Given the description of an element on the screen output the (x, y) to click on. 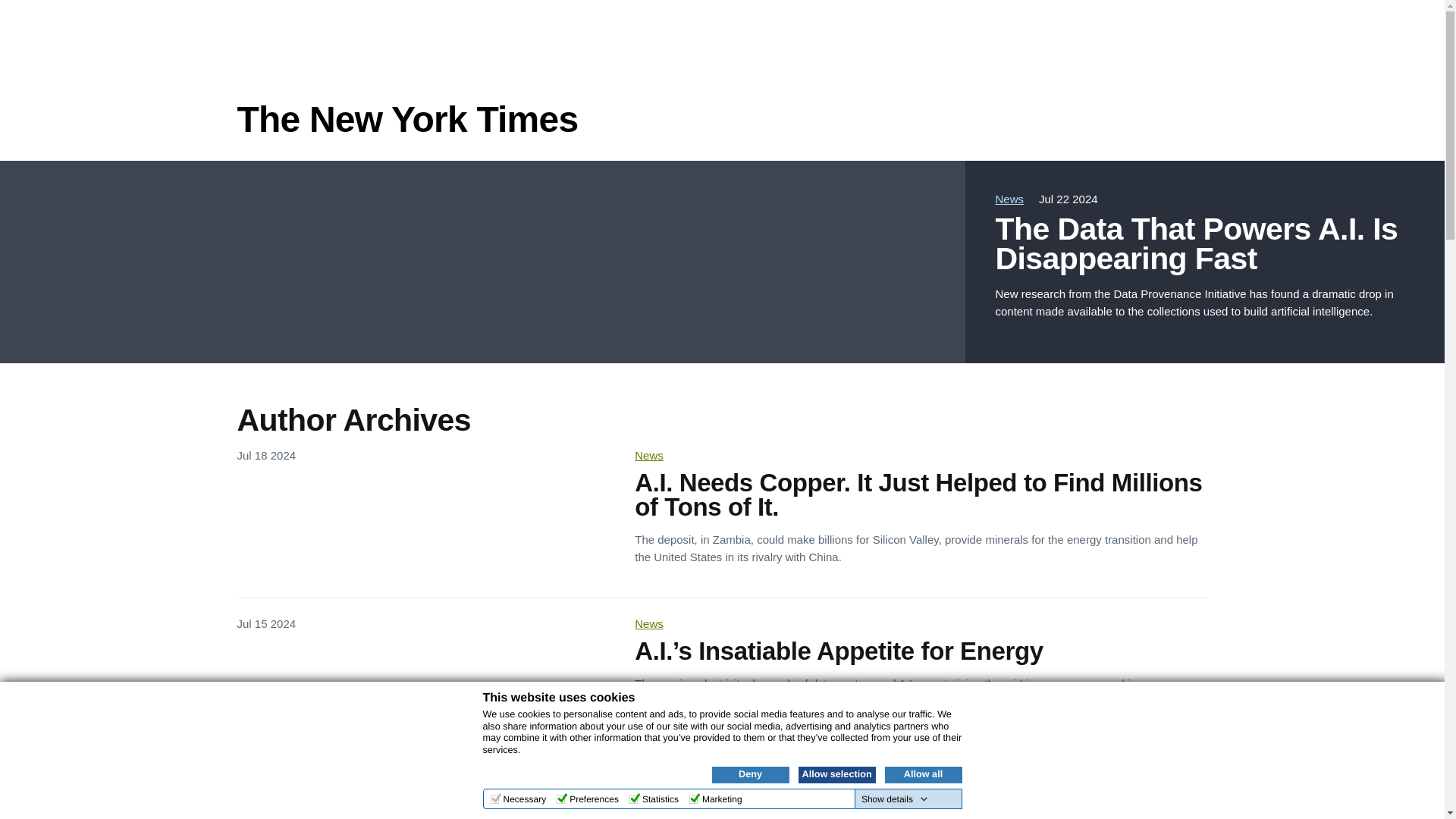
Allow selection (836, 774)
Show details (895, 799)
Allow all (921, 774)
Deny (750, 774)
